Given the description of an element on the screen output the (x, y) to click on. 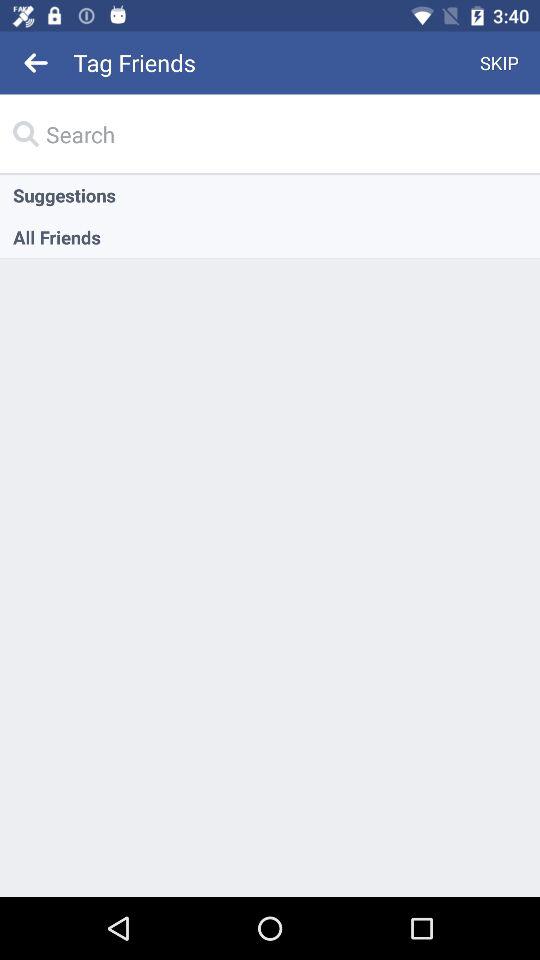
tap item above search item (499, 62)
